Given the description of an element on the screen output the (x, y) to click on. 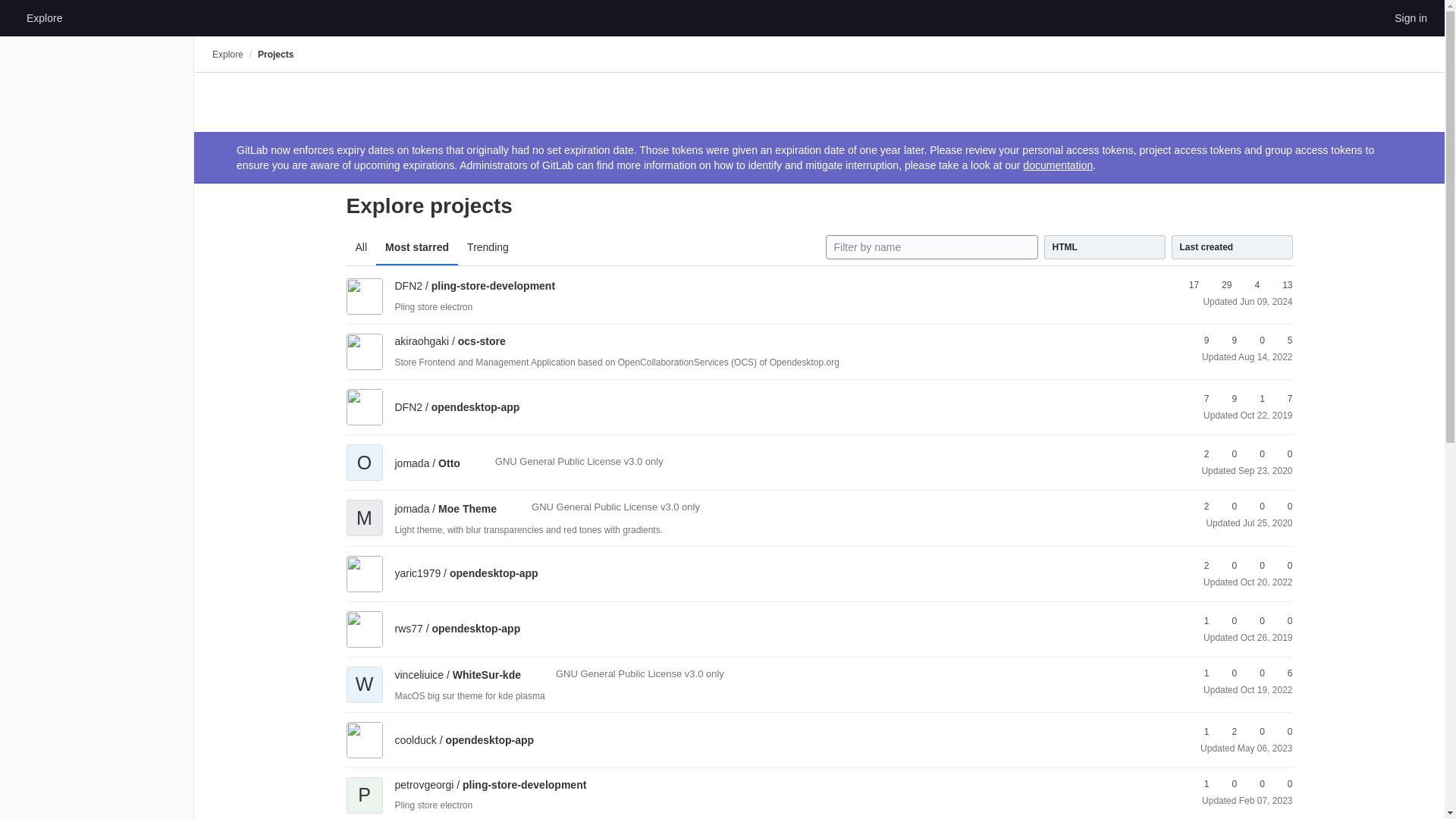
pling-store-development (474, 285)
Explore (44, 17)
Merge requests (1249, 284)
Forks (1226, 340)
Merge requests (1255, 340)
Issues (1283, 340)
documentation (1058, 164)
ocs-store (449, 340)
Issues (1280, 284)
Projects (275, 54)
Stars (1186, 284)
Trending (488, 247)
Stars (1200, 340)
Jun 9, 2024 11:41am (1266, 301)
Forks (1219, 284)
